Given the description of an element on the screen output the (x, y) to click on. 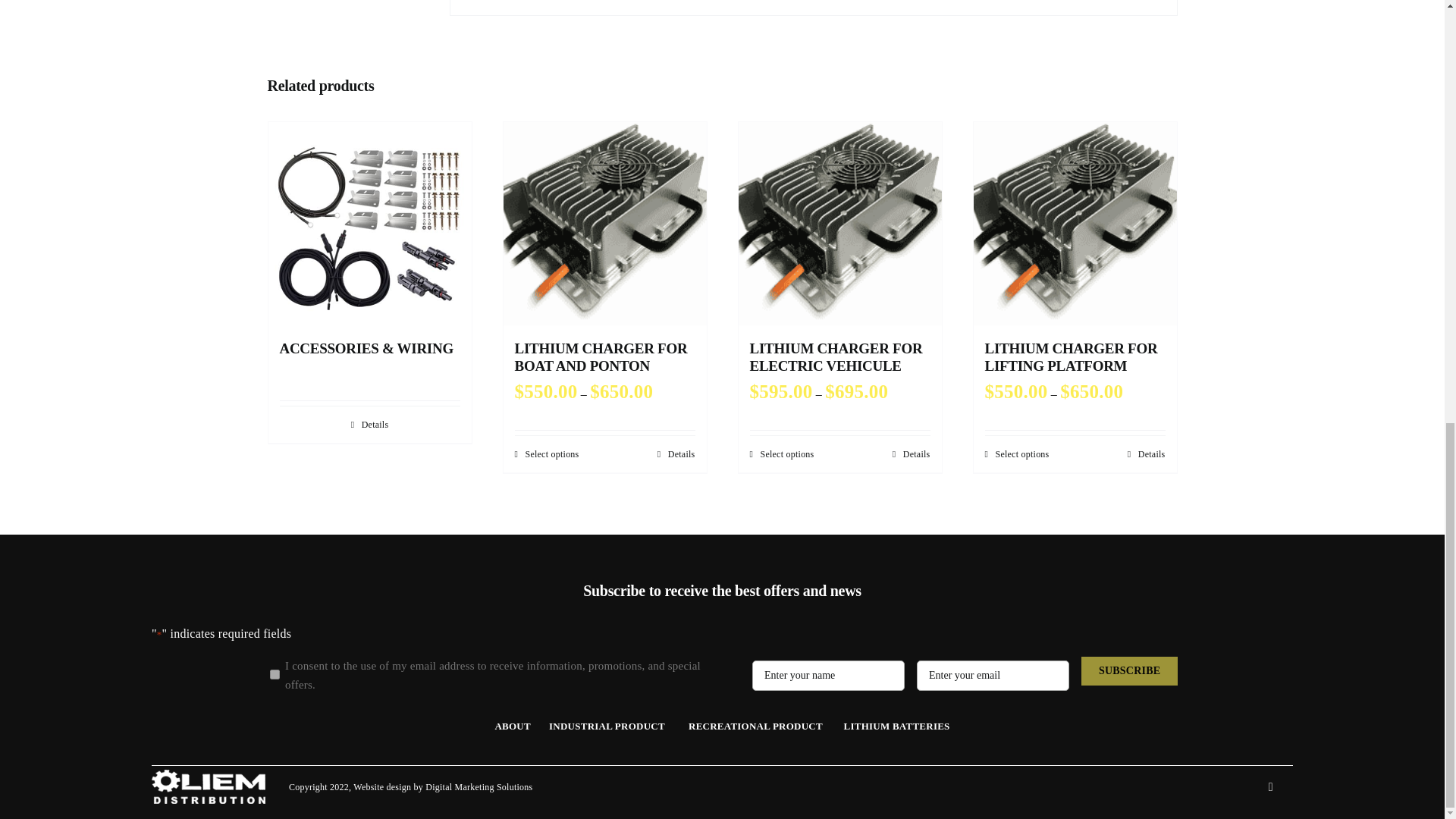
SUBSCRIBE (1129, 671)
